Given the description of an element on the screen output the (x, y) to click on. 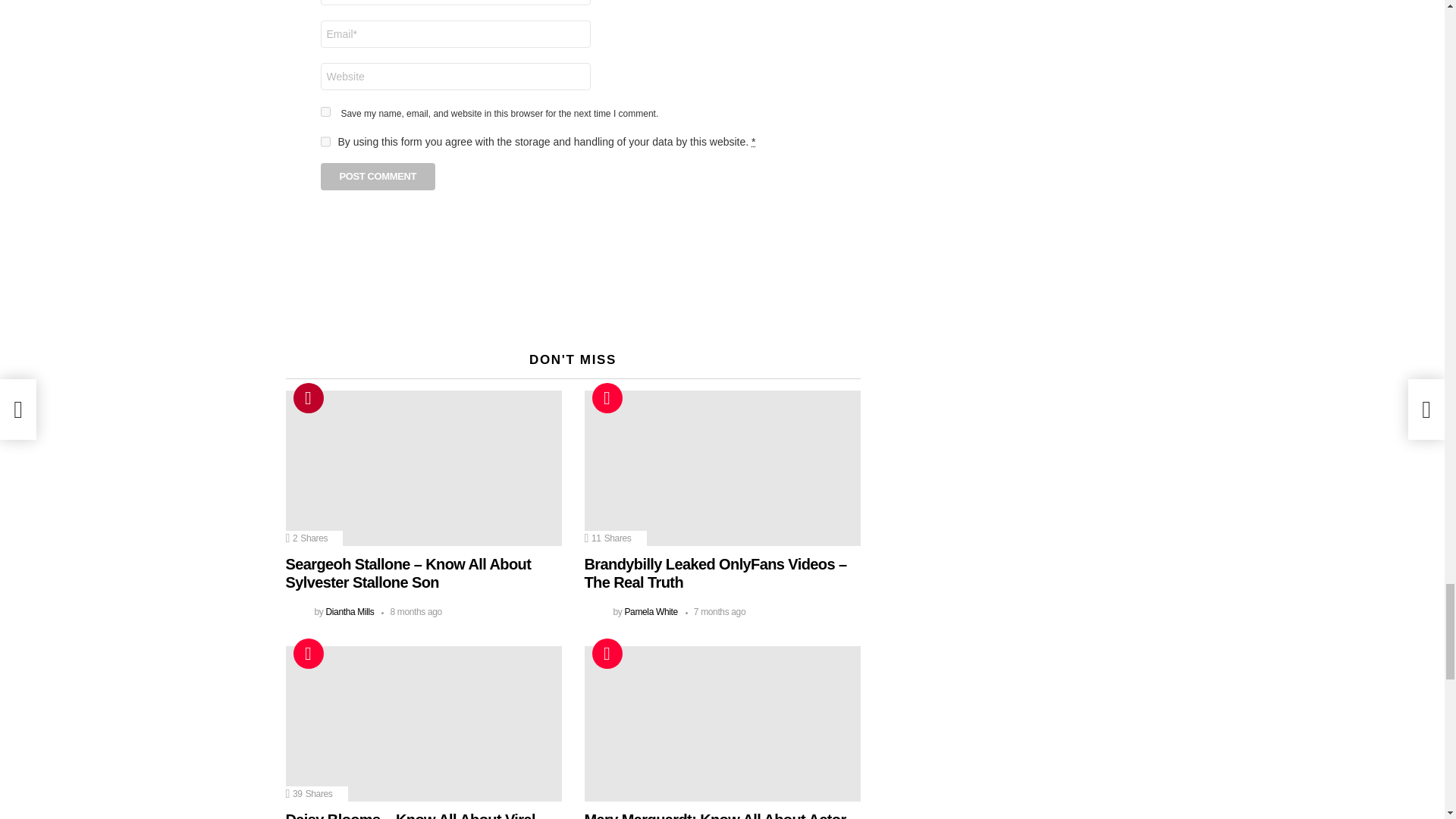
Post Comment (377, 176)
yes (325, 112)
